Given the description of an element on the screen output the (x, y) to click on. 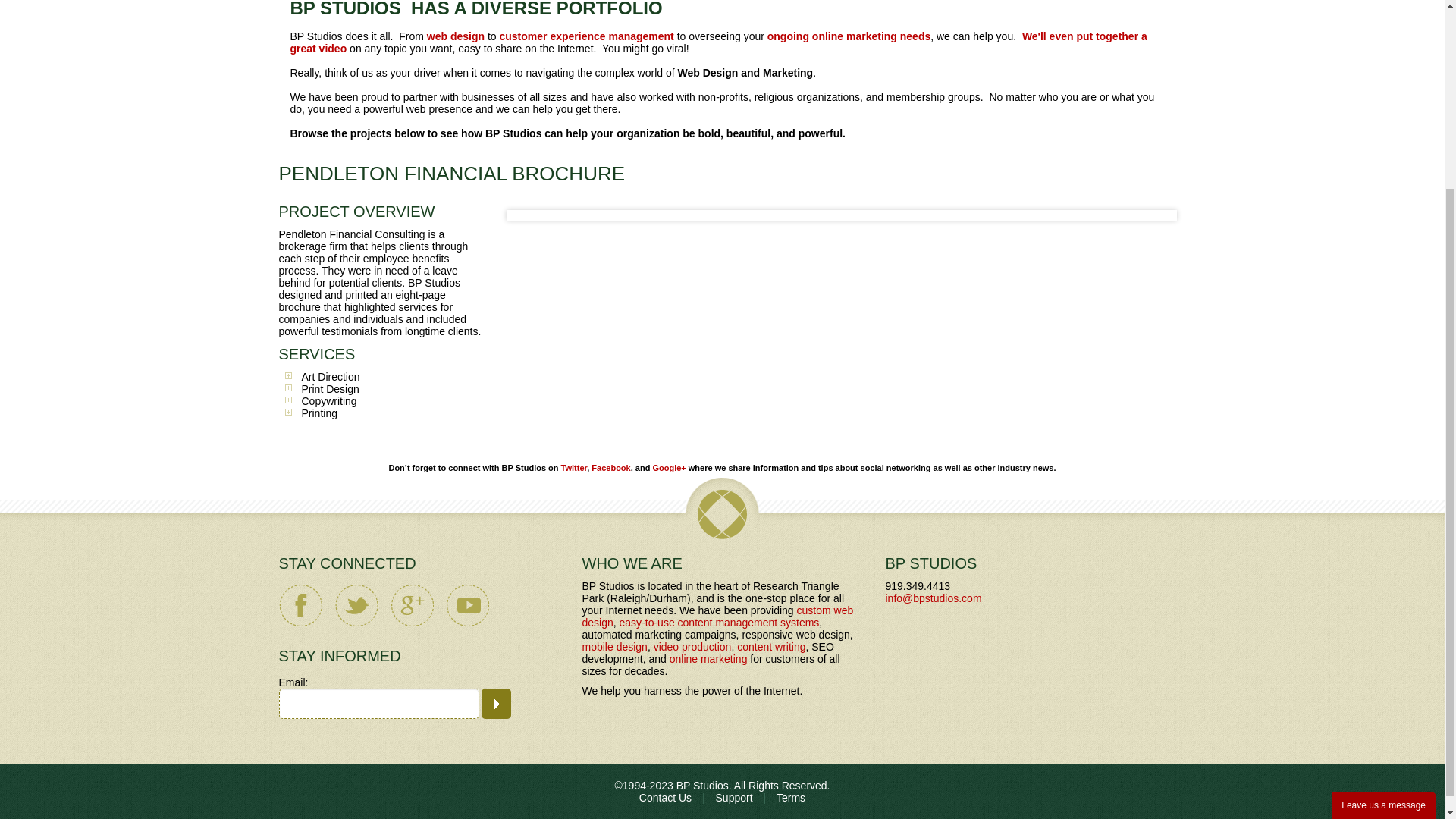
Facebook (610, 467)
custom web design (717, 616)
Leave us a message (1383, 565)
We'll even put together a great video (718, 42)
Twitter (574, 467)
web design (455, 36)
easy-to-use content management systems (719, 622)
ongoing online marketing needs (848, 36)
customer experience management (585, 36)
